Given the description of an element on the screen output the (x, y) to click on. 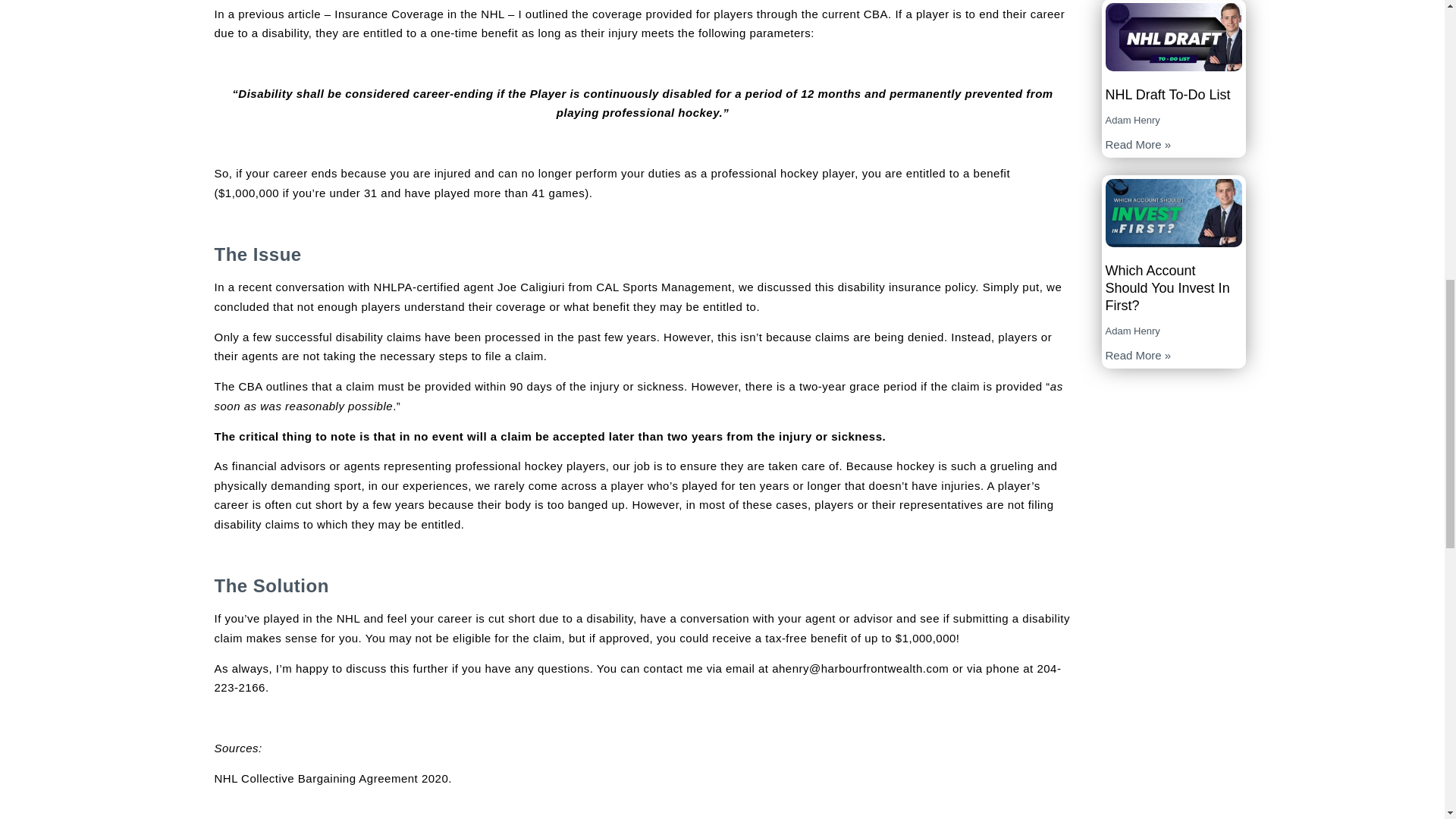
Insurance Coverage in the NHL (418, 13)
CAL Sports Management (662, 286)
Which Account Should You Invest In First? (1167, 287)
NHL Draft To-Do List (1167, 94)
